Given the description of an element on the screen output the (x, y) to click on. 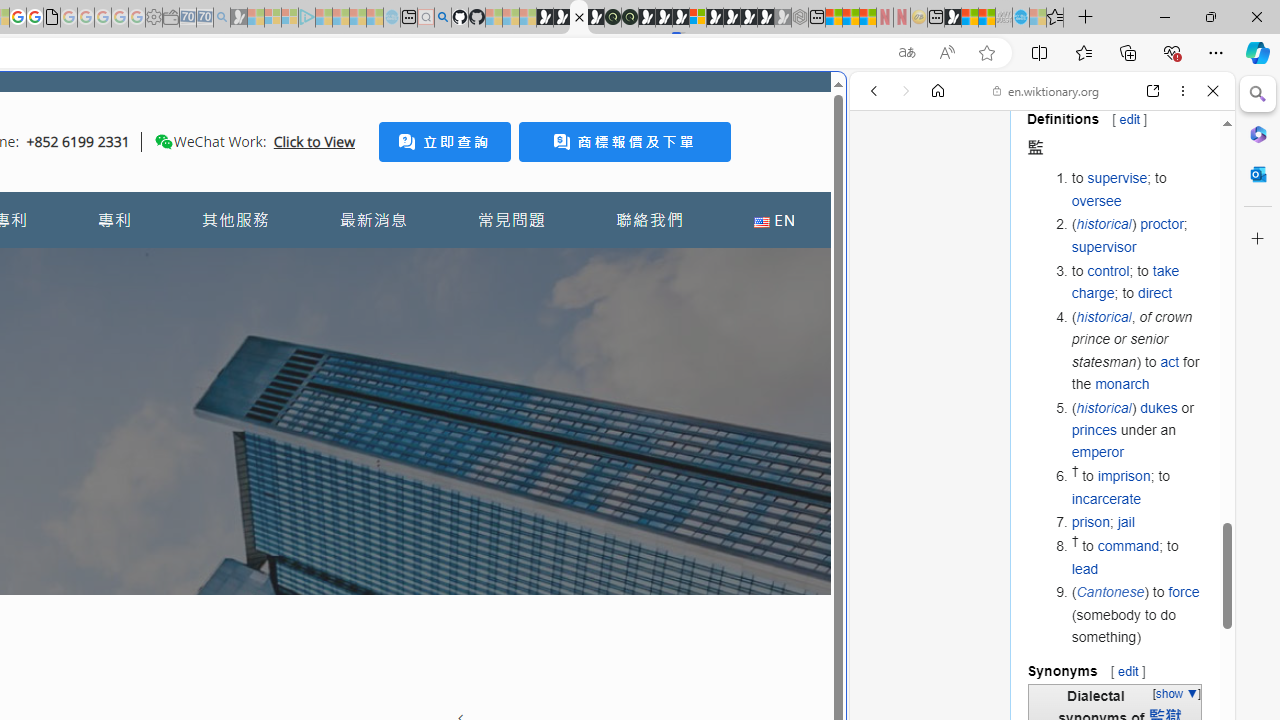
Close split screen (844, 102)
monarch (1121, 383)
lead (1085, 568)
edit (1128, 670)
to control; to take charge; to direct (1137, 282)
Show translate options (906, 53)
Play Cave FRVR in your browser | Games from Microsoft Start (343, 426)
